Given the description of an element on the screen output the (x, y) to click on. 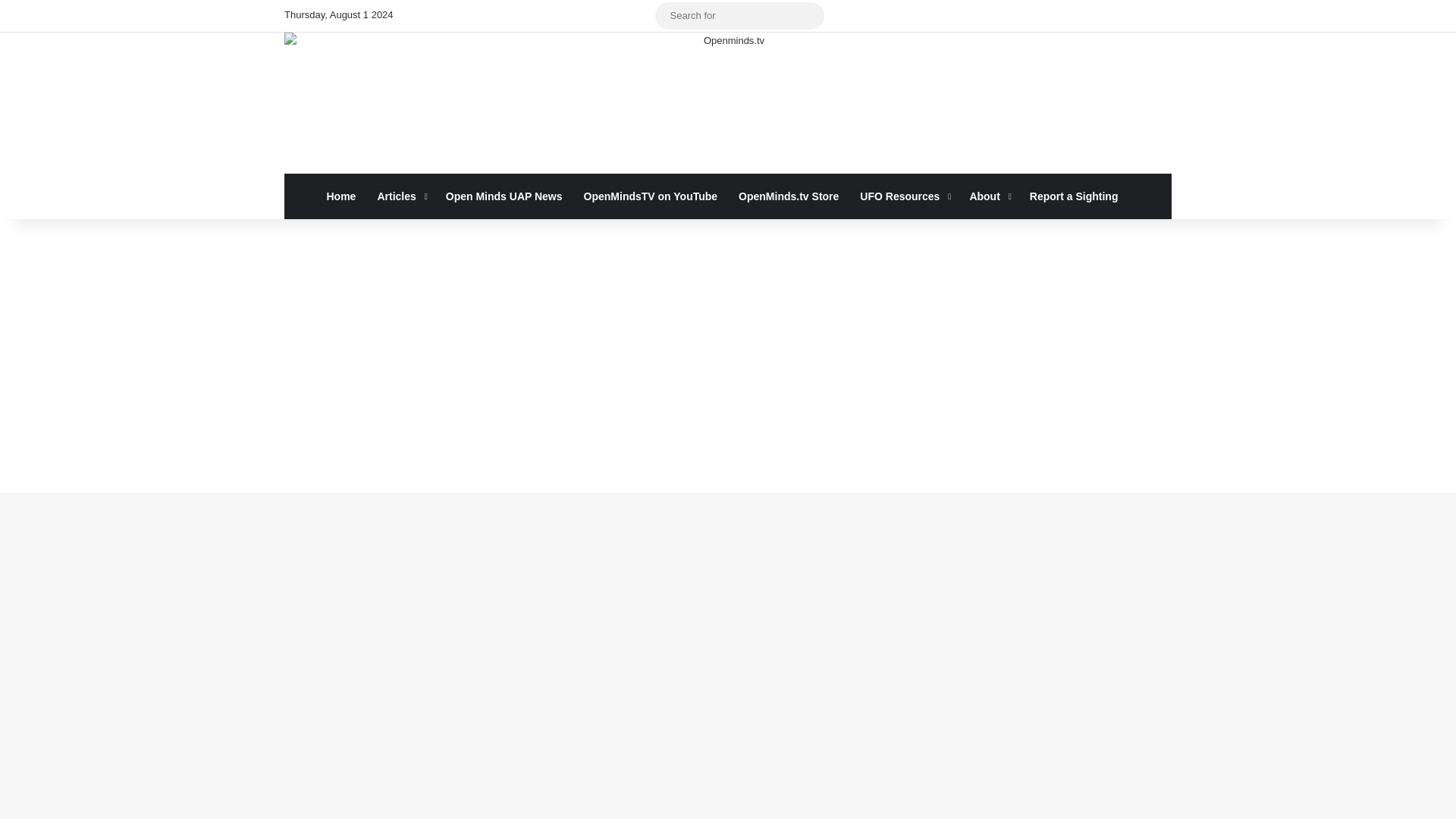
Openminds.tv (727, 102)
Search for (808, 15)
Open Minds UAP News (504, 196)
About (987, 196)
OpenMinds.tv Store (788, 196)
Search for (739, 15)
UFO Resources (903, 196)
OpenMindsTV on YouTube (651, 196)
Home (340, 196)
Articles (399, 196)
